Given the description of an element on the screen output the (x, y) to click on. 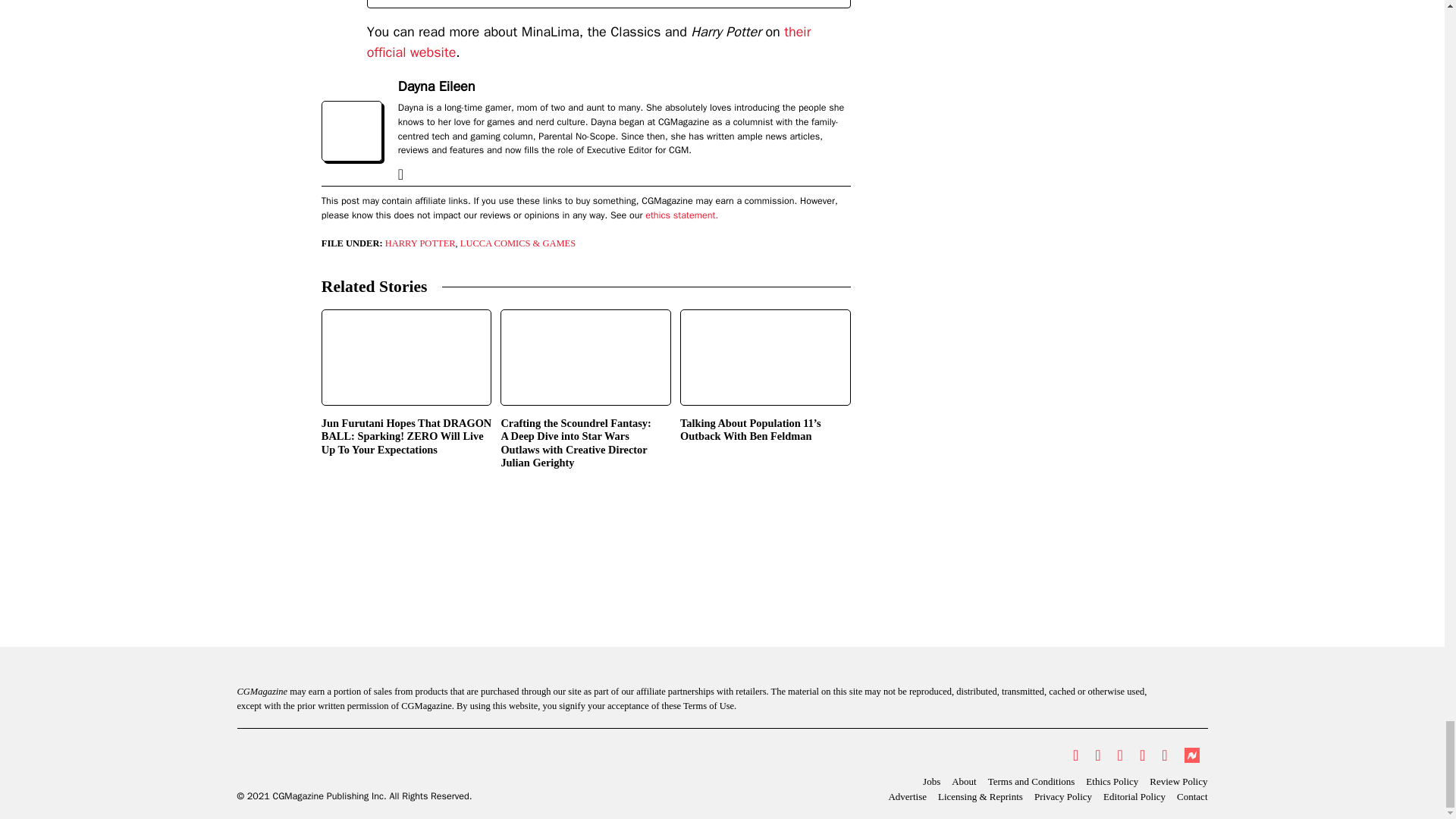
Instagram Profile (1120, 754)
Facebook Page (1097, 754)
Dayna Eileen (436, 86)
Twitter Profile (1075, 754)
CGMagazine (353, 762)
